Given the description of an element on the screen output the (x, y) to click on. 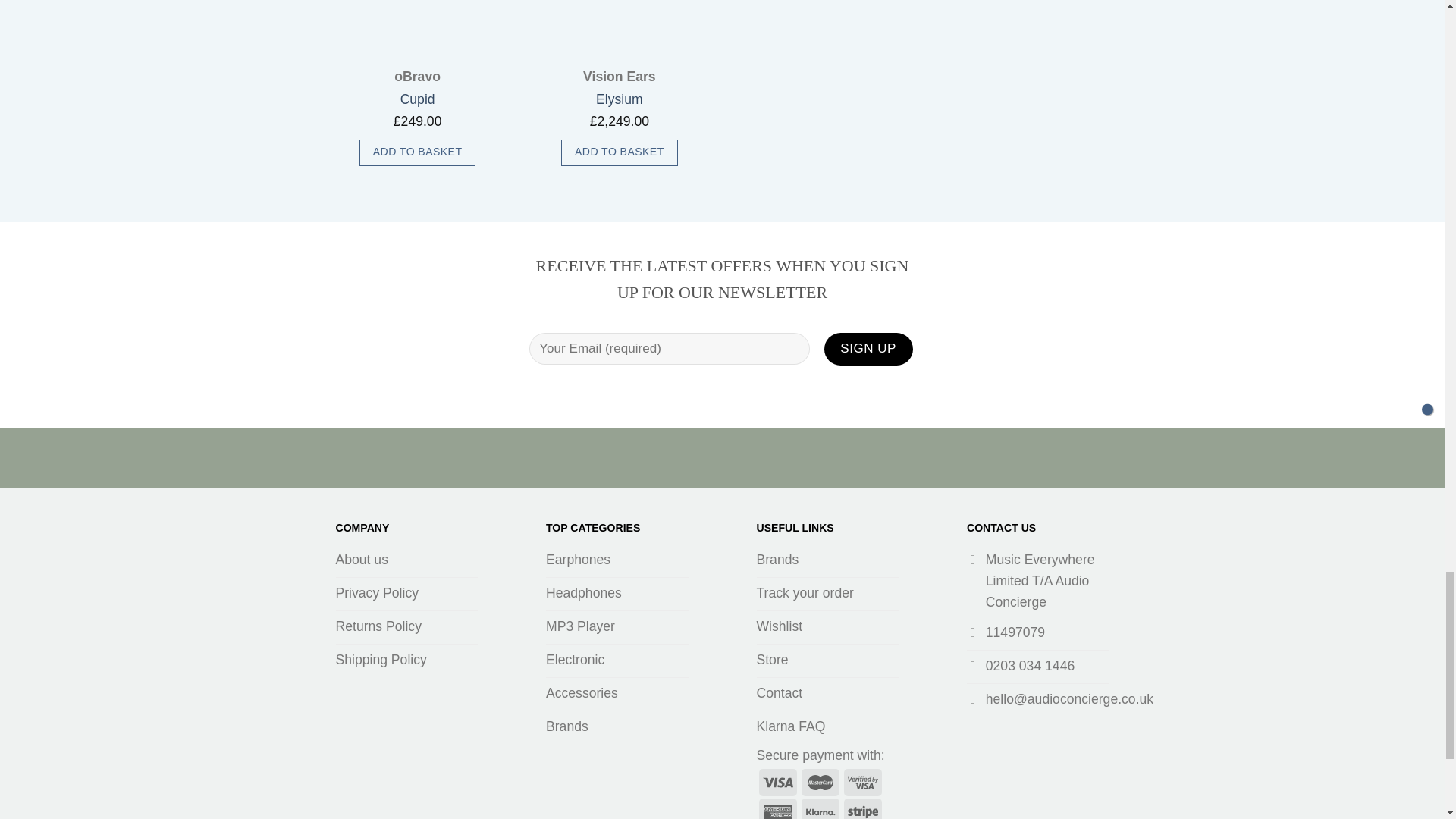
Sign Up (868, 348)
